Given the description of an element on the screen output the (x, y) to click on. 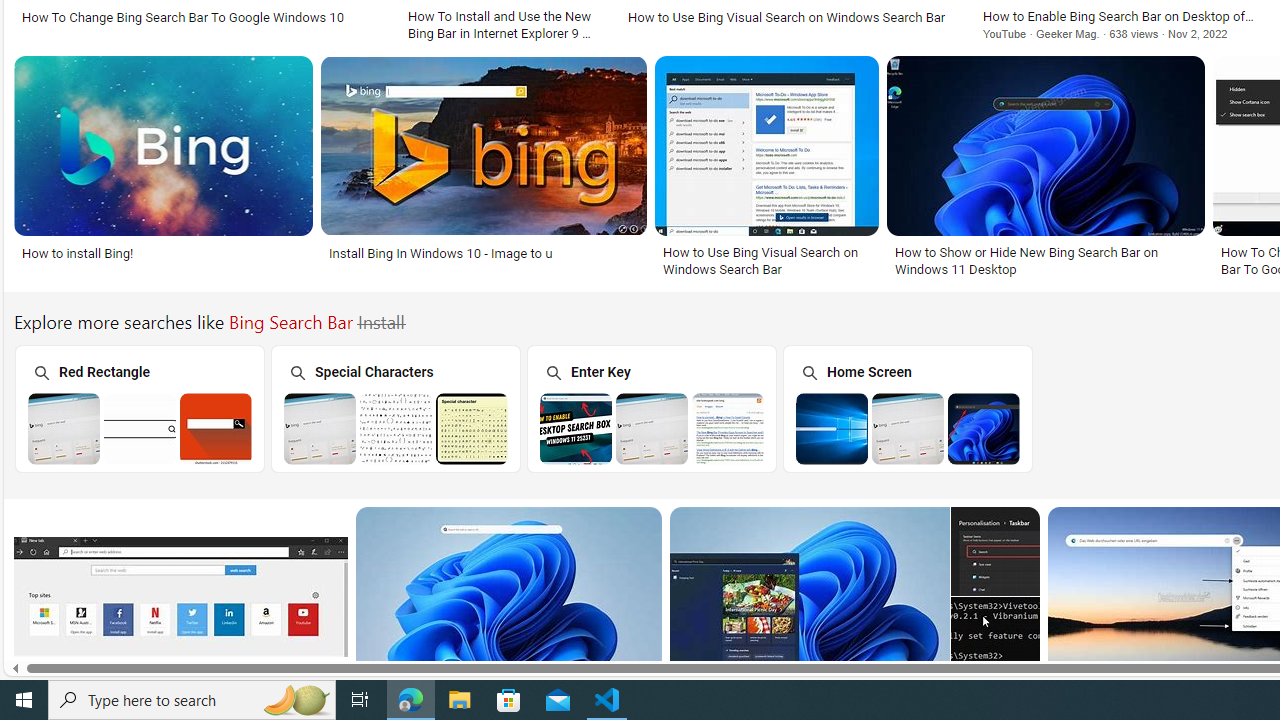
Install Bing In Windows 10 - Image to uSave (488, 169)
Bing Search Bar Special Characters (396, 428)
How to install Bing!Save (167, 169)
How to install Bing! (162, 253)
Bing Search Bar On Home Screen (908, 428)
Image result for Bing Search Bar Install (995, 641)
Install Bing In Windows 10 - Image to u (483, 253)
Red Rectangle Bing Search Bar Red Rectangle (139, 408)
Special Characters (395, 407)
Red Rectangle (138, 407)
How to Use Bing Visual Search on Windows Search Bar (766, 260)
How to install Bing! (77, 253)
